Given the description of an element on the screen output the (x, y) to click on. 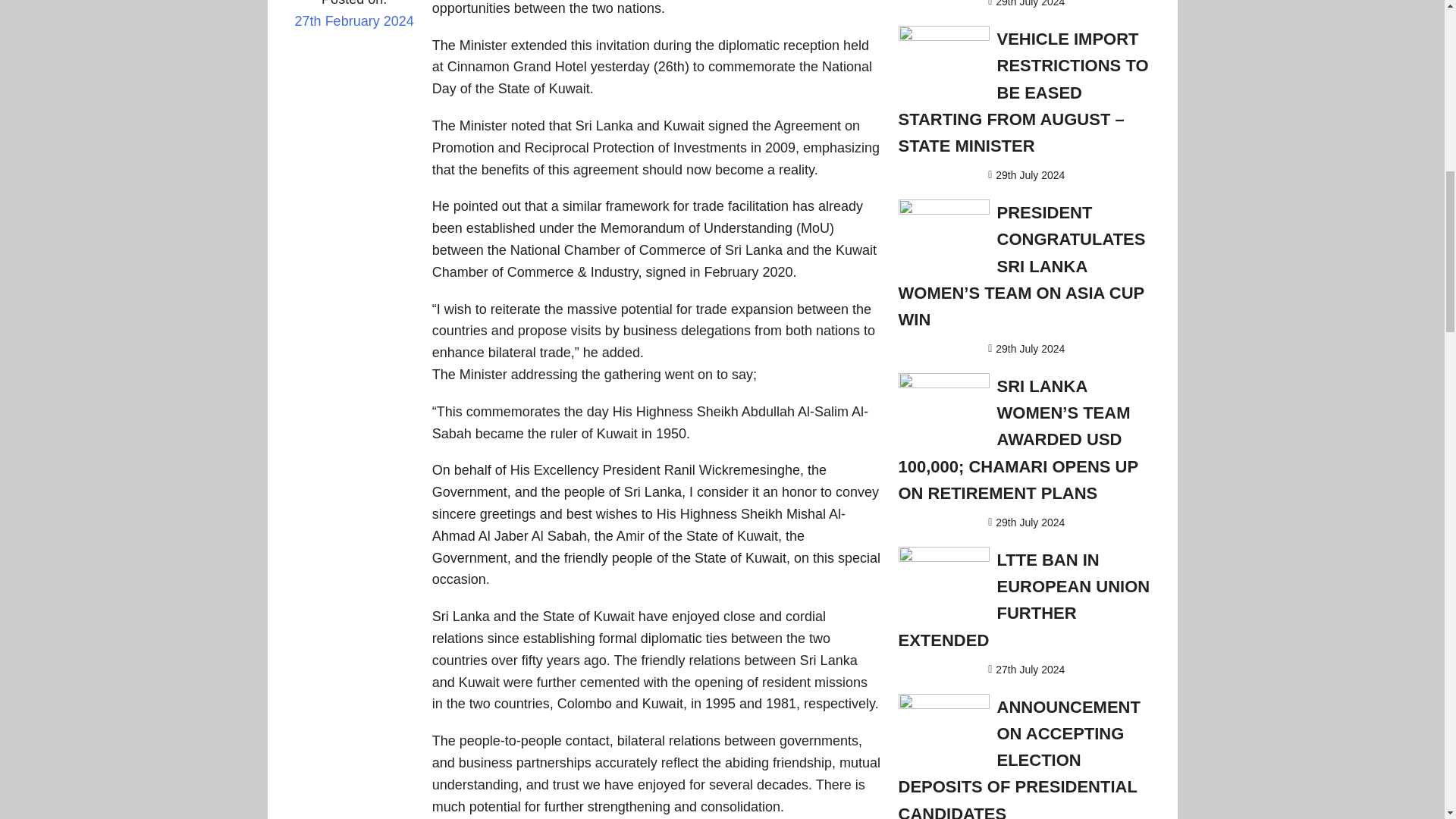
27th February 2024 (353, 30)
